Given the description of an element on the screen output the (x, y) to click on. 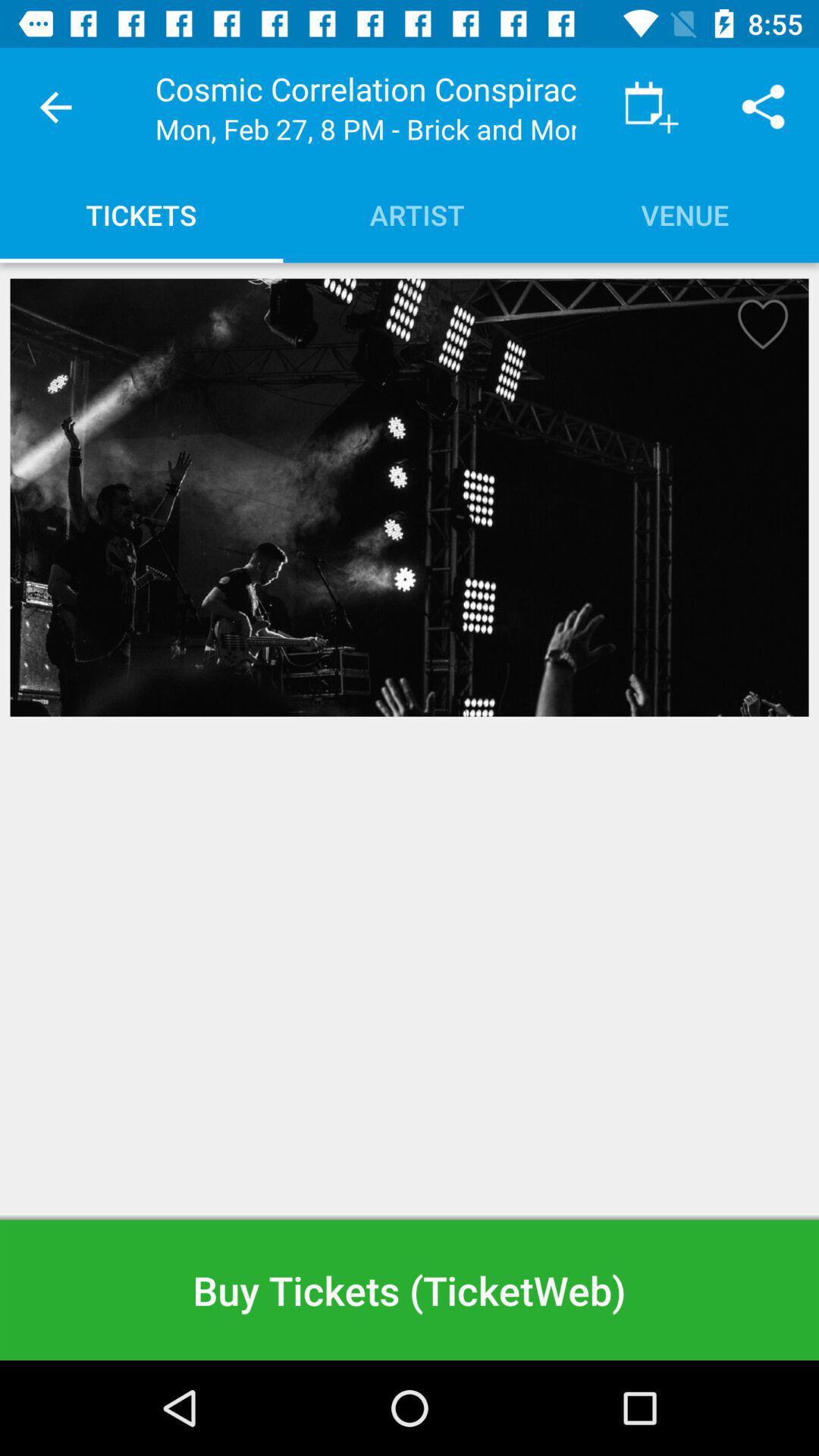
press the item next to cosmic correlation conspiracy (55, 107)
